Given the description of an element on the screen output the (x, y) to click on. 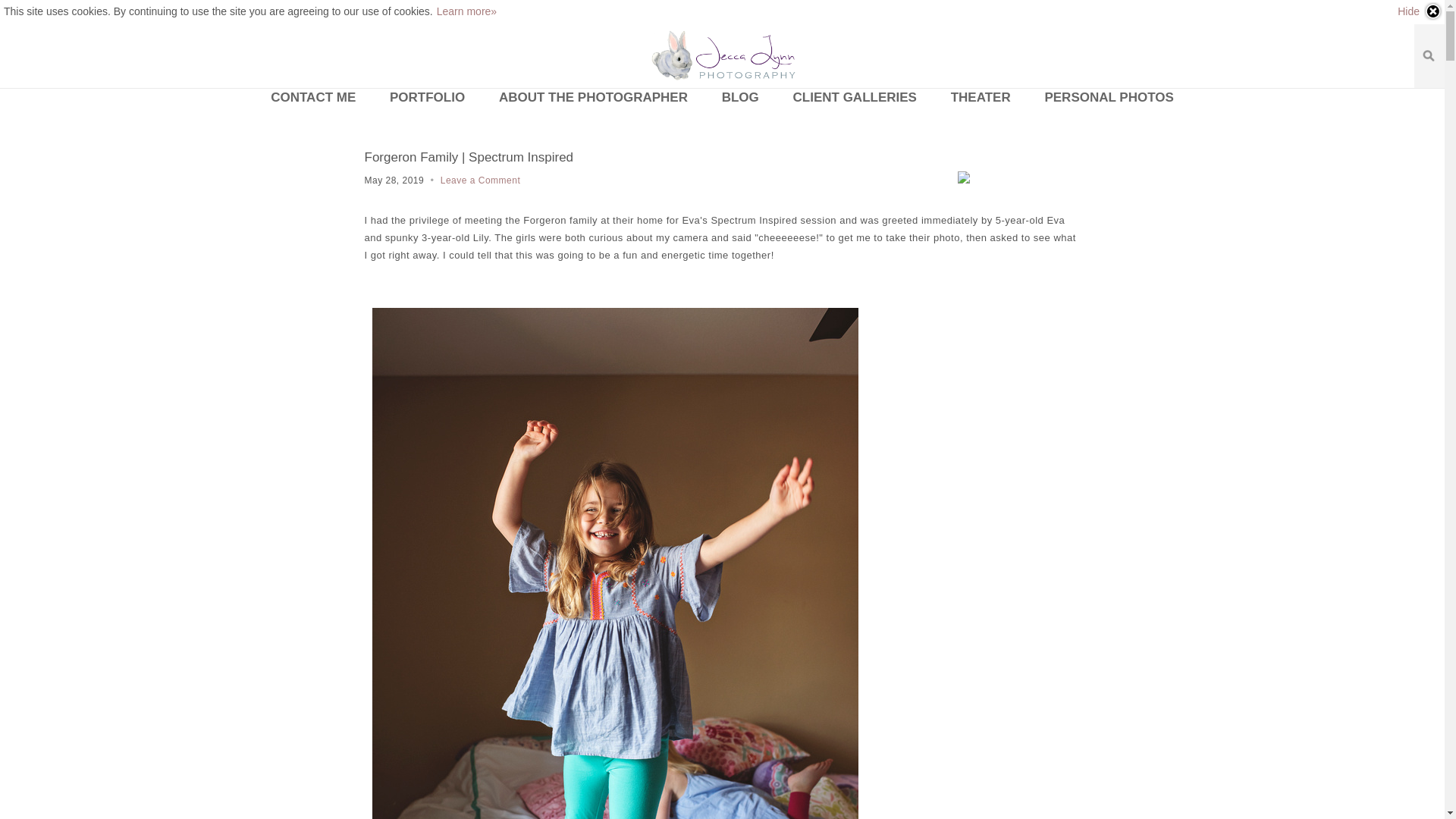
CLIENT GALLERIES (854, 96)
THEATER (981, 96)
Hide (1419, 11)
Jecca Lynn Photography (722, 56)
BLOG (740, 96)
PORTFOLIO (427, 96)
Leave a Comment (481, 179)
ABOUT THE PHOTOGRAPHER (593, 96)
CONTACT ME (313, 96)
PERSONAL PHOTOS (1108, 96)
